Given the description of an element on the screen output the (x, y) to click on. 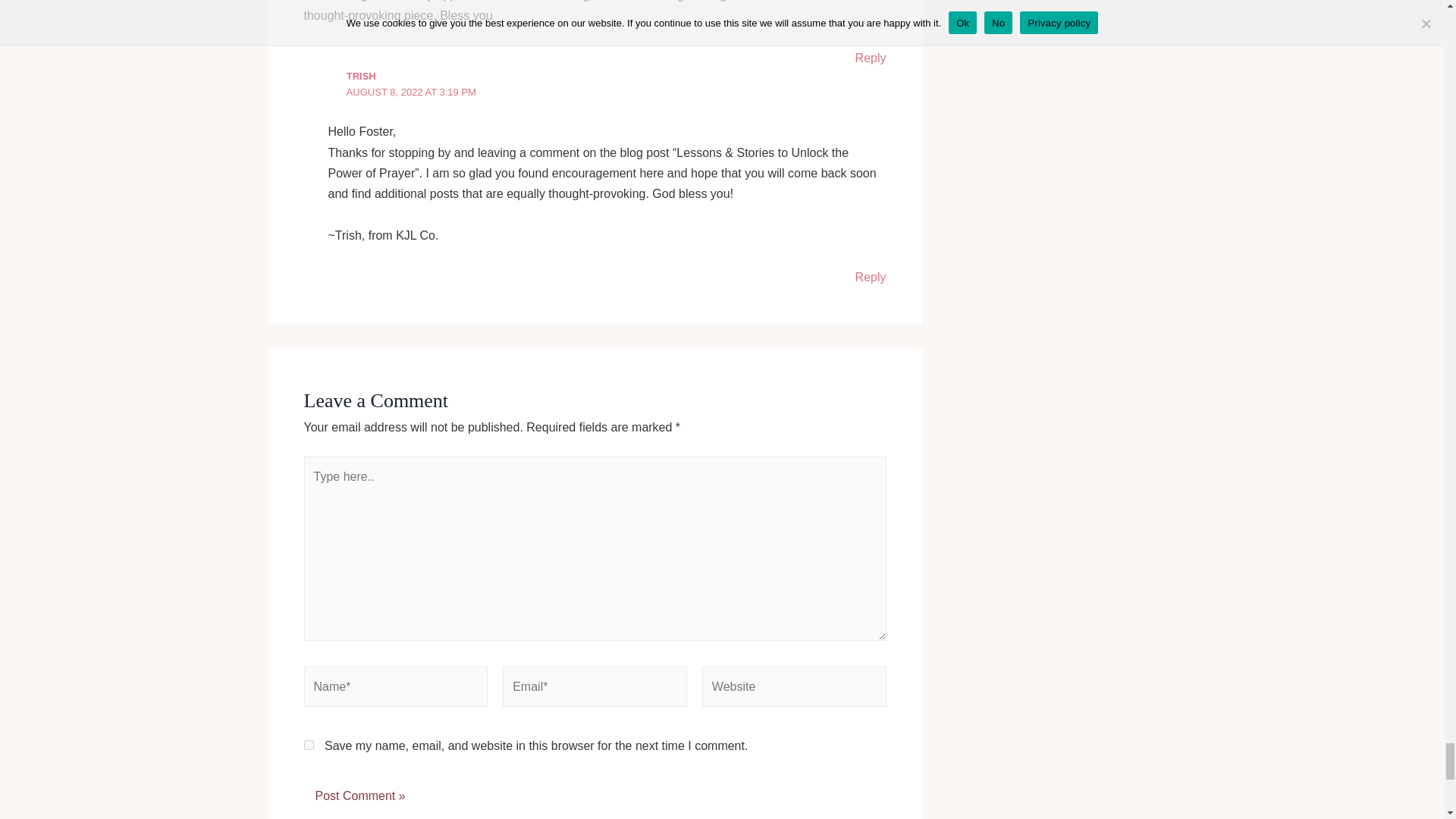
yes (307, 745)
